Given the description of an element on the screen output the (x, y) to click on. 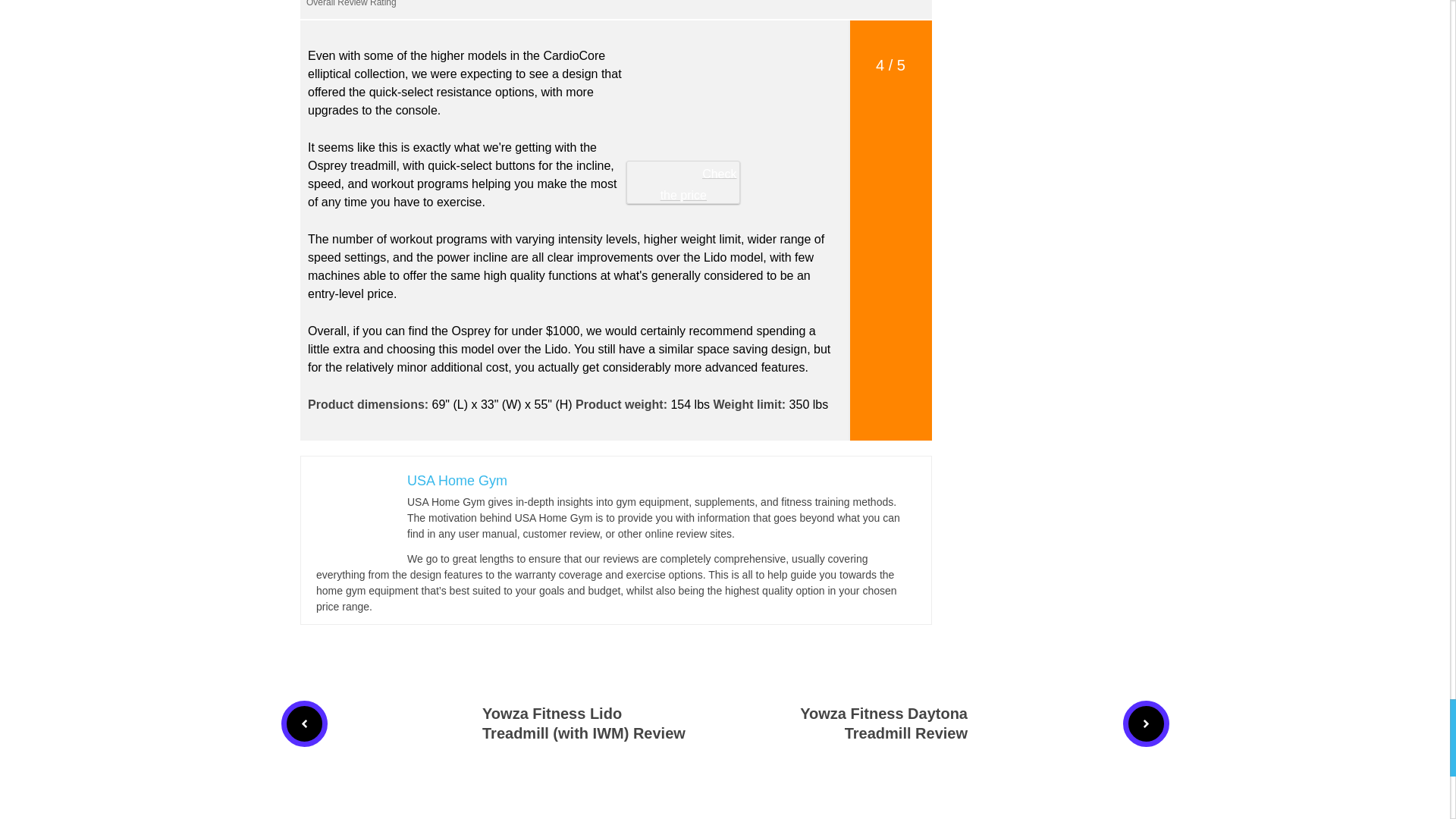
Buy now (732, 149)
